Given the description of an element on the screen output the (x, y) to click on. 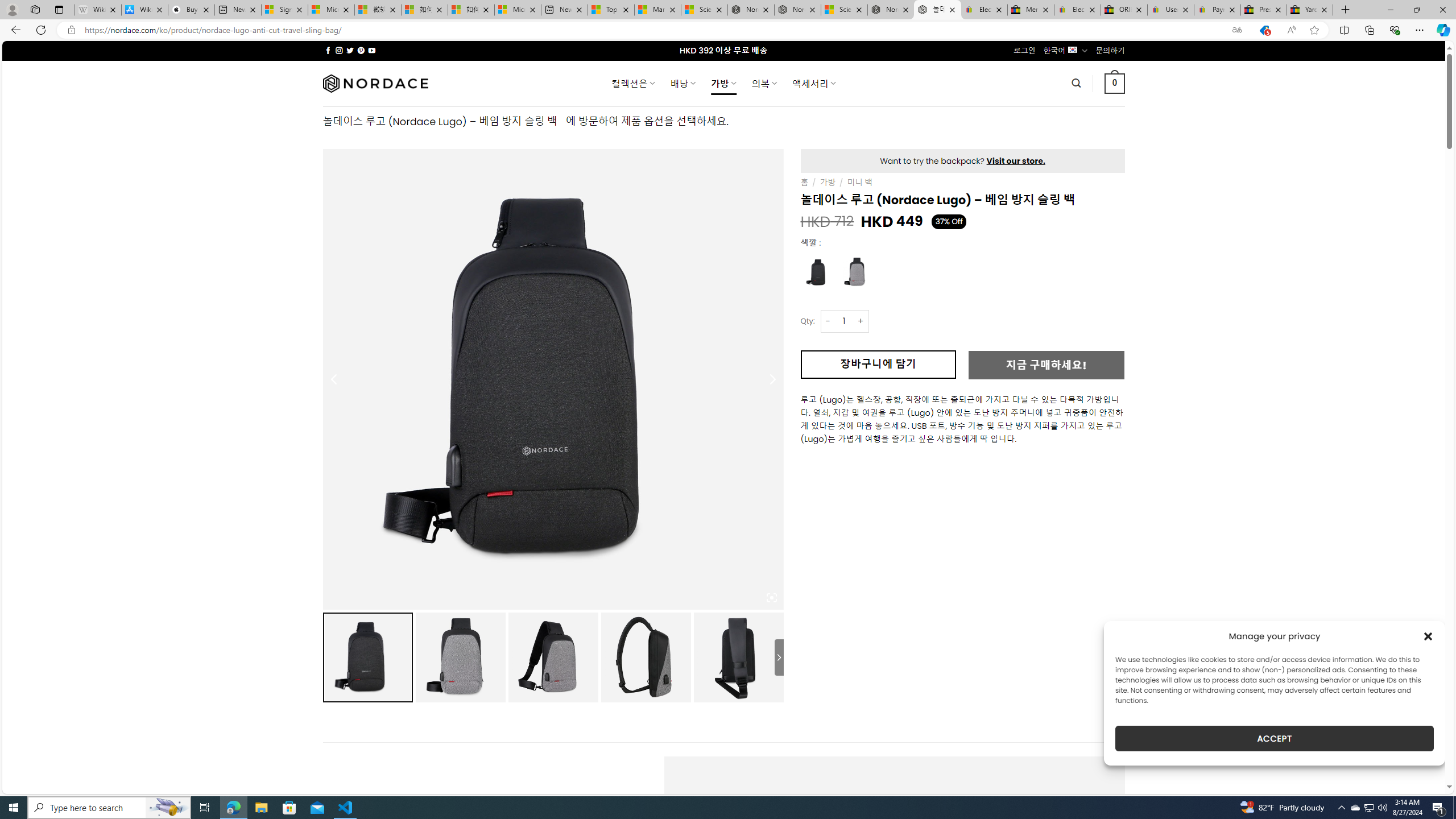
Wikipedia - Sleeping (97, 9)
Follow on Instagram (338, 50)
- (827, 320)
 0  (1115, 83)
Class: iconic-woothumbs-fullscreen (771, 597)
